Given the description of an element on the screen output the (x, y) to click on. 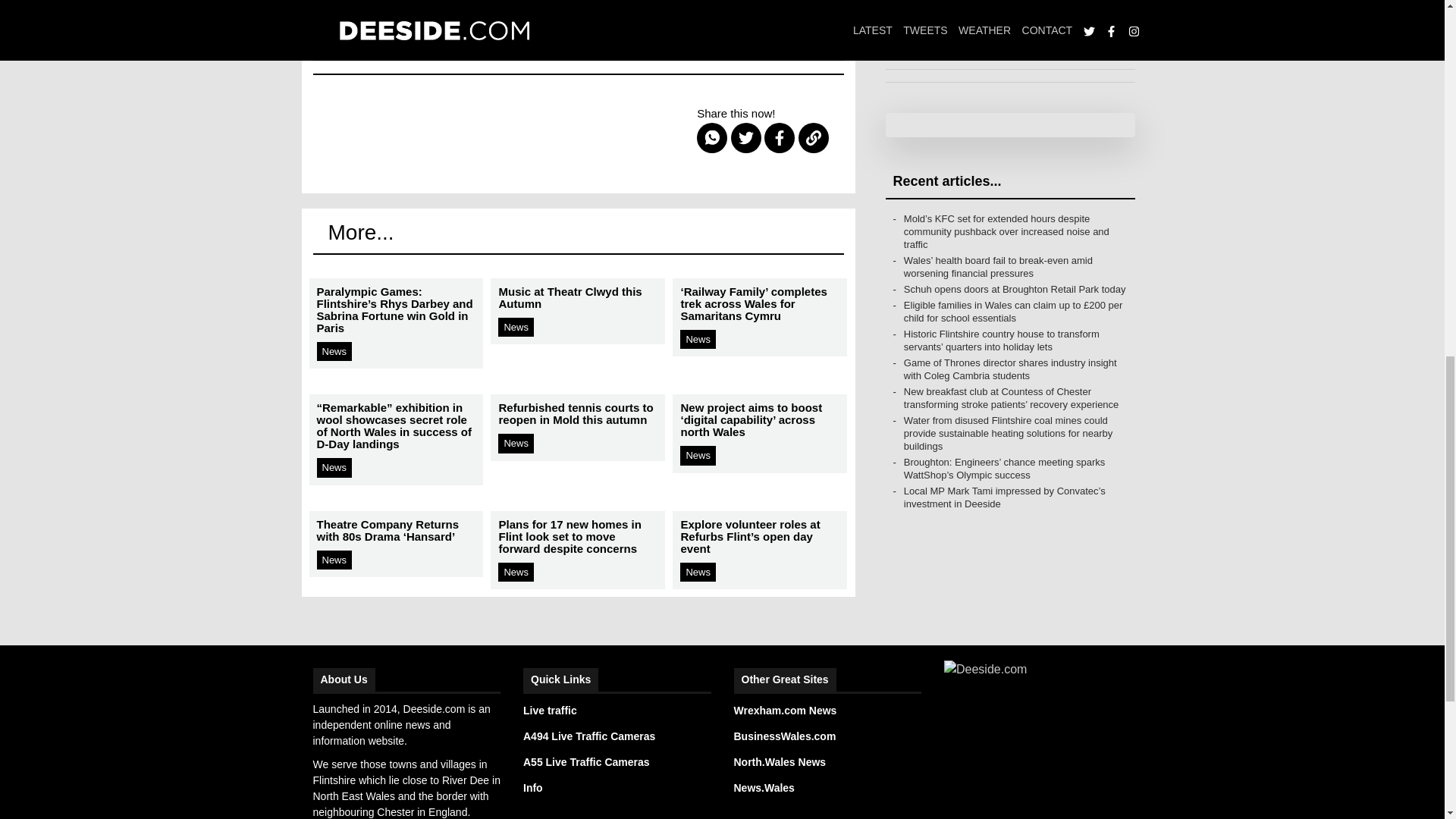
Music at Theatr Clwyd this Autumn (577, 430)
